Given the description of an element on the screen output the (x, y) to click on. 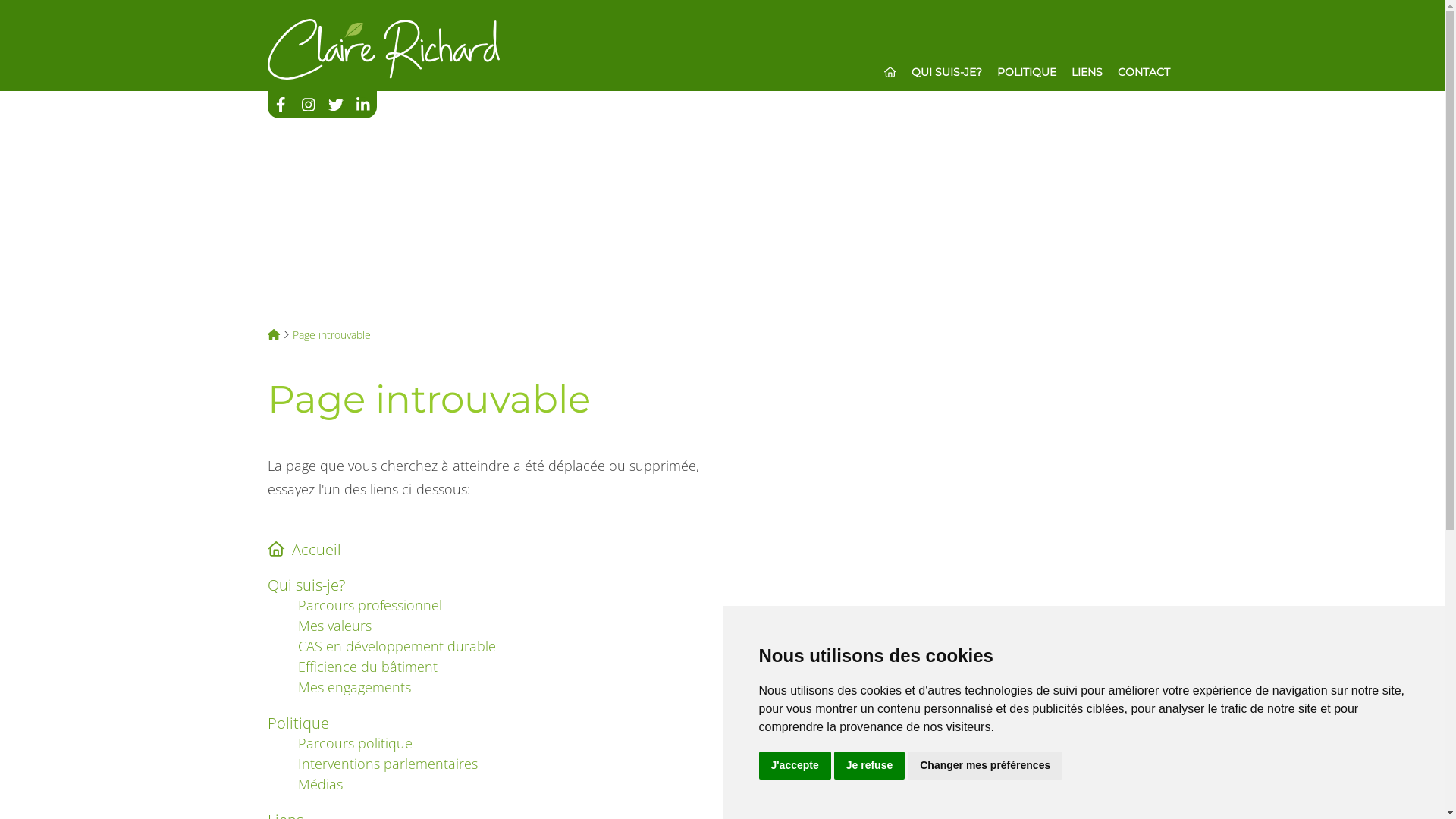
Je refuse Element type: text (869, 765)
ACCUEIL Element type: text (890, 72)
POLITIQUE Element type: text (1025, 72)
Qui suis-je? Element type: text (484, 577)
QUI SUIS-JE? Element type: text (946, 72)
Nous suivre sur Facebook Element type: hover (280, 104)
AccueilAccueil Element type: text (484, 541)
Interventions parlementaires Element type: text (386, 763)
Politique Element type: text (484, 715)
Parcours professionnel Element type: text (369, 605)
J'accepte Element type: text (794, 765)
Parcours politique Element type: text (354, 743)
LIENS Element type: text (1085, 72)
Nous suivre sur Twitter Element type: hover (334, 104)
Mes valeurs Element type: text (333, 625)
Mes engagements Element type: text (353, 686)
Page introuvable Element type: text (331, 334)
CONTACT Element type: text (1143, 72)
Nous suivre sur Instagram Element type: hover (307, 104)
Nous suivre sur Linkedin Element type: hover (362, 104)
